Given the description of an element on the screen output the (x, y) to click on. 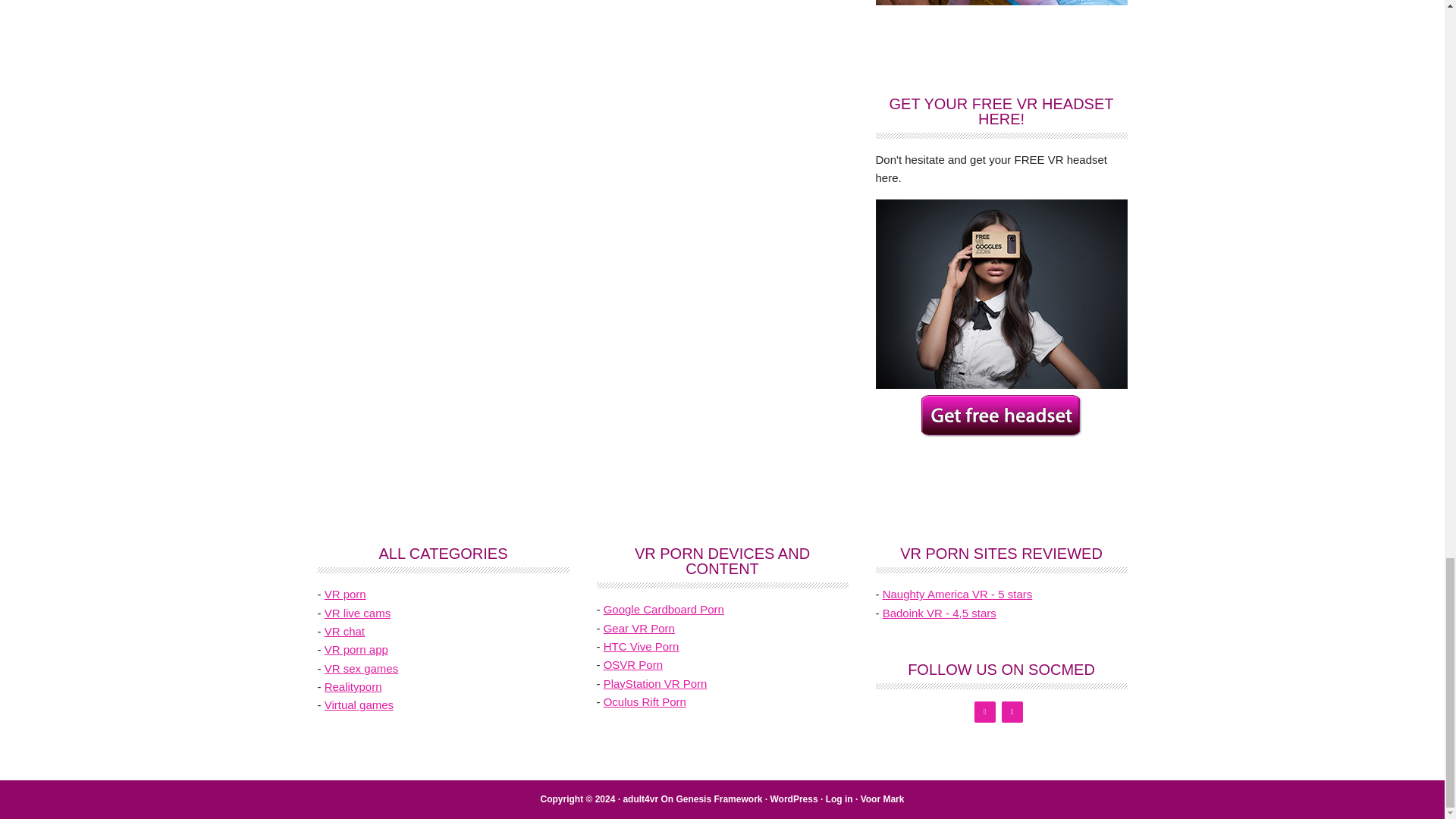
VR chat (344, 631)
Realityporn (352, 686)
VR porn (345, 594)
Oculus Rift Porn (644, 701)
Naughty America VR - 5 stars (957, 594)
PlayStation VR Porn (655, 683)
Virtual games (358, 704)
HTC Vive Porn (641, 645)
VR live cams (357, 612)
Gear VR Porn (639, 627)
Google Cardboard Porn (663, 608)
VR sex games (361, 667)
OSVR Porn (633, 664)
VR porn app (356, 649)
